Given the description of an element on the screen output the (x, y) to click on. 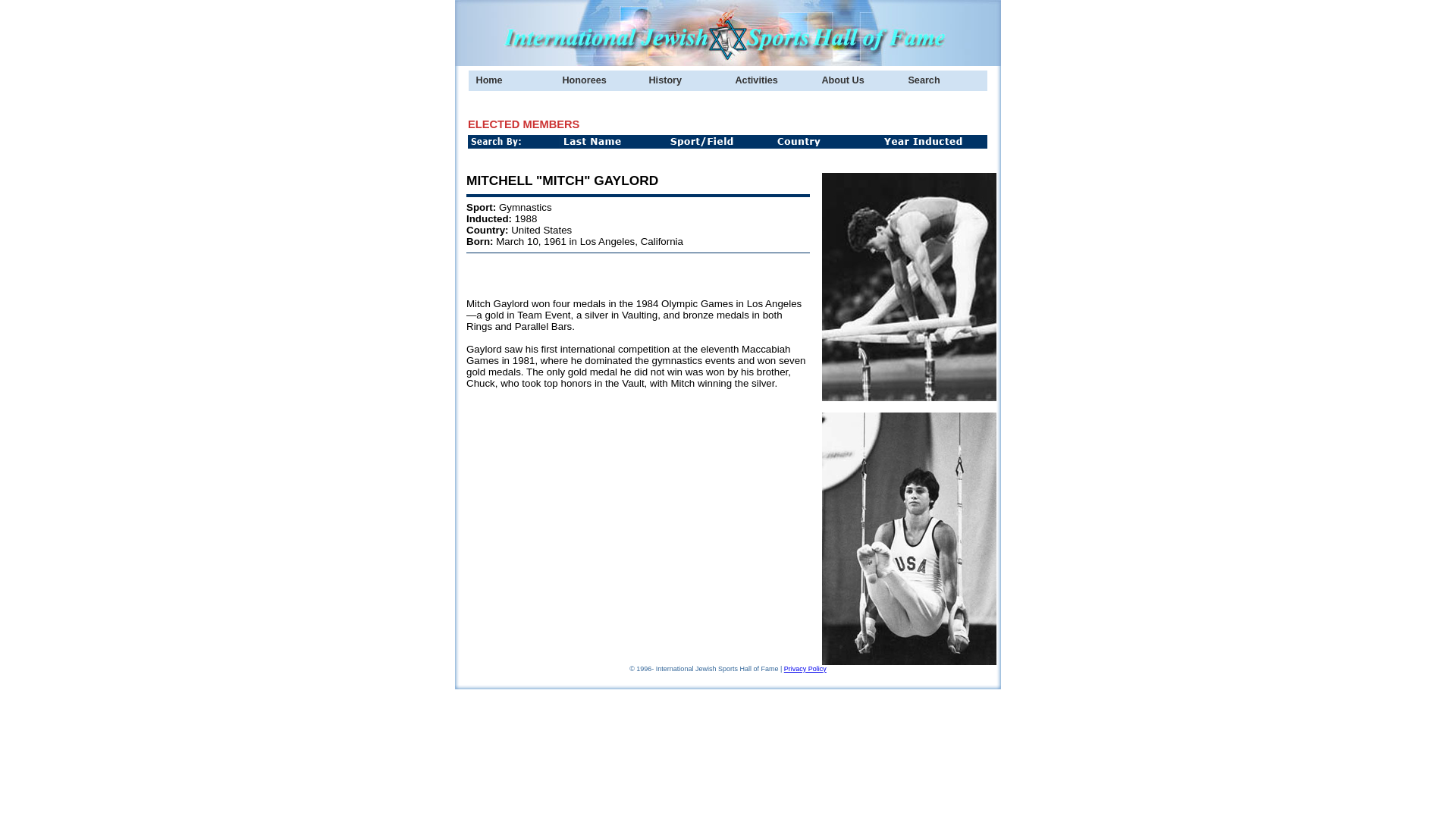
Honorees (598, 80)
Privacy Policy (805, 668)
Activities (770, 80)
About Us (857, 80)
History (685, 80)
Home (511, 80)
Search (944, 80)
